Given the description of an element on the screen output the (x, y) to click on. 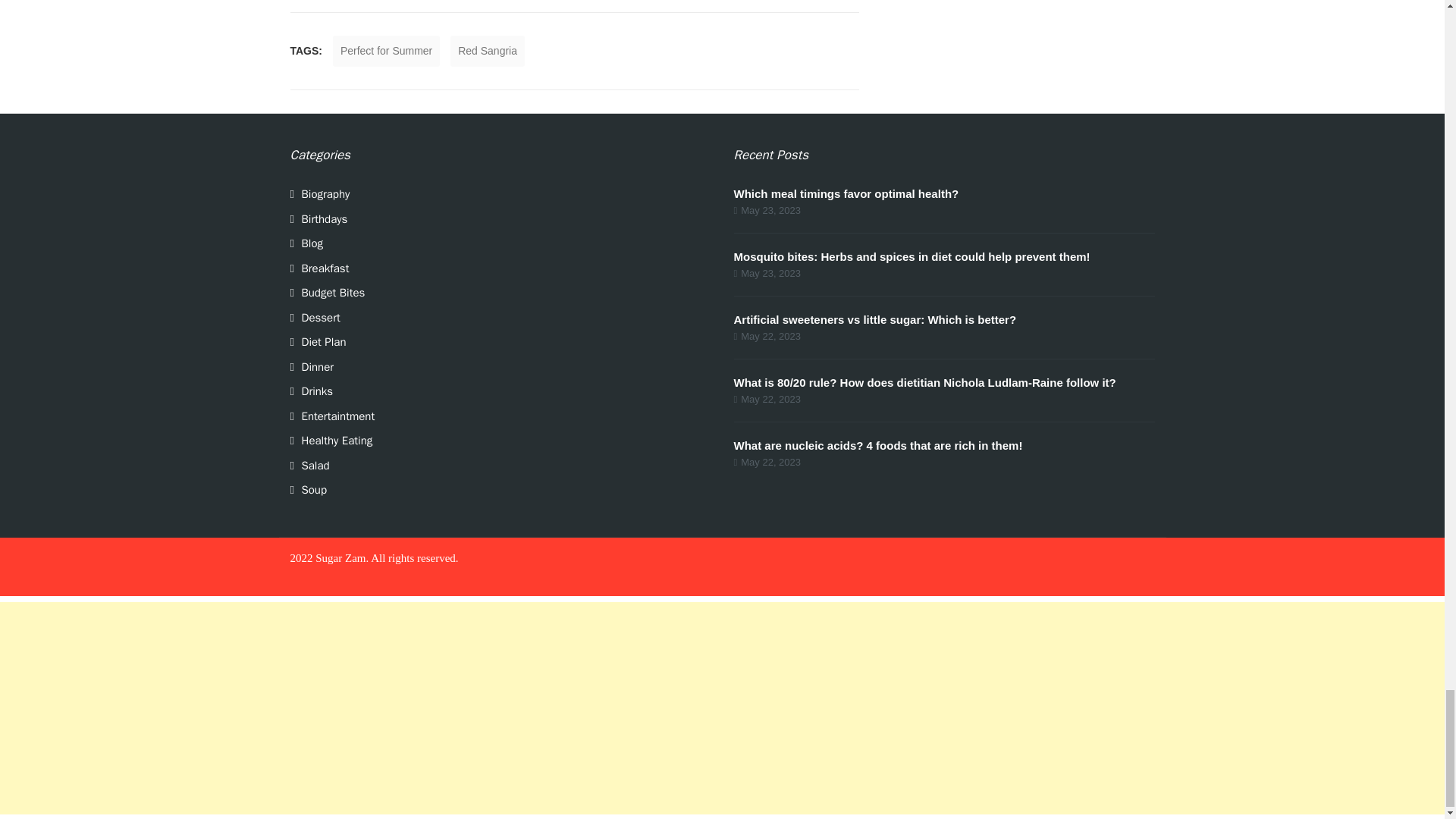
Perfect for Summer (386, 51)
Red Sangria (486, 51)
